Given the description of an element on the screen output the (x, y) to click on. 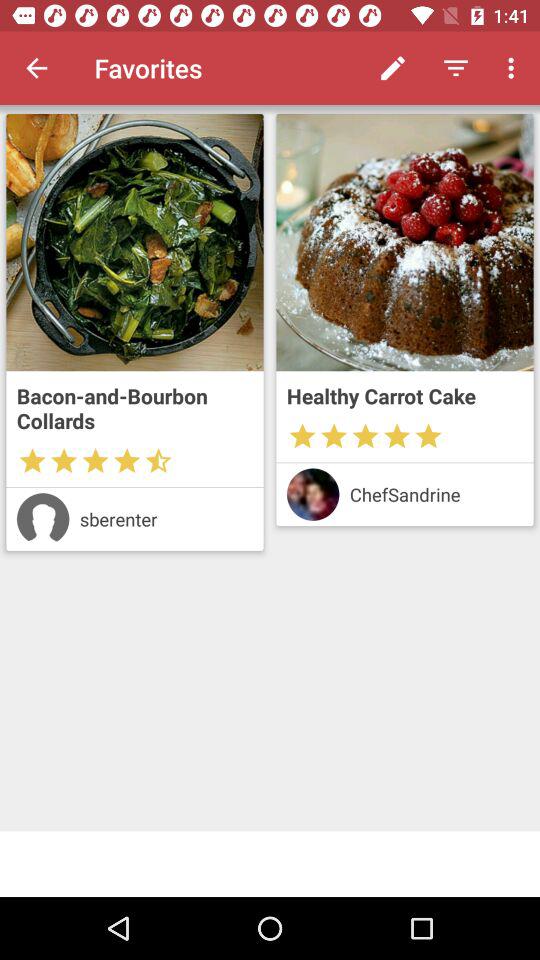
flip to sberenter (166, 518)
